Given the description of an element on the screen output the (x, y) to click on. 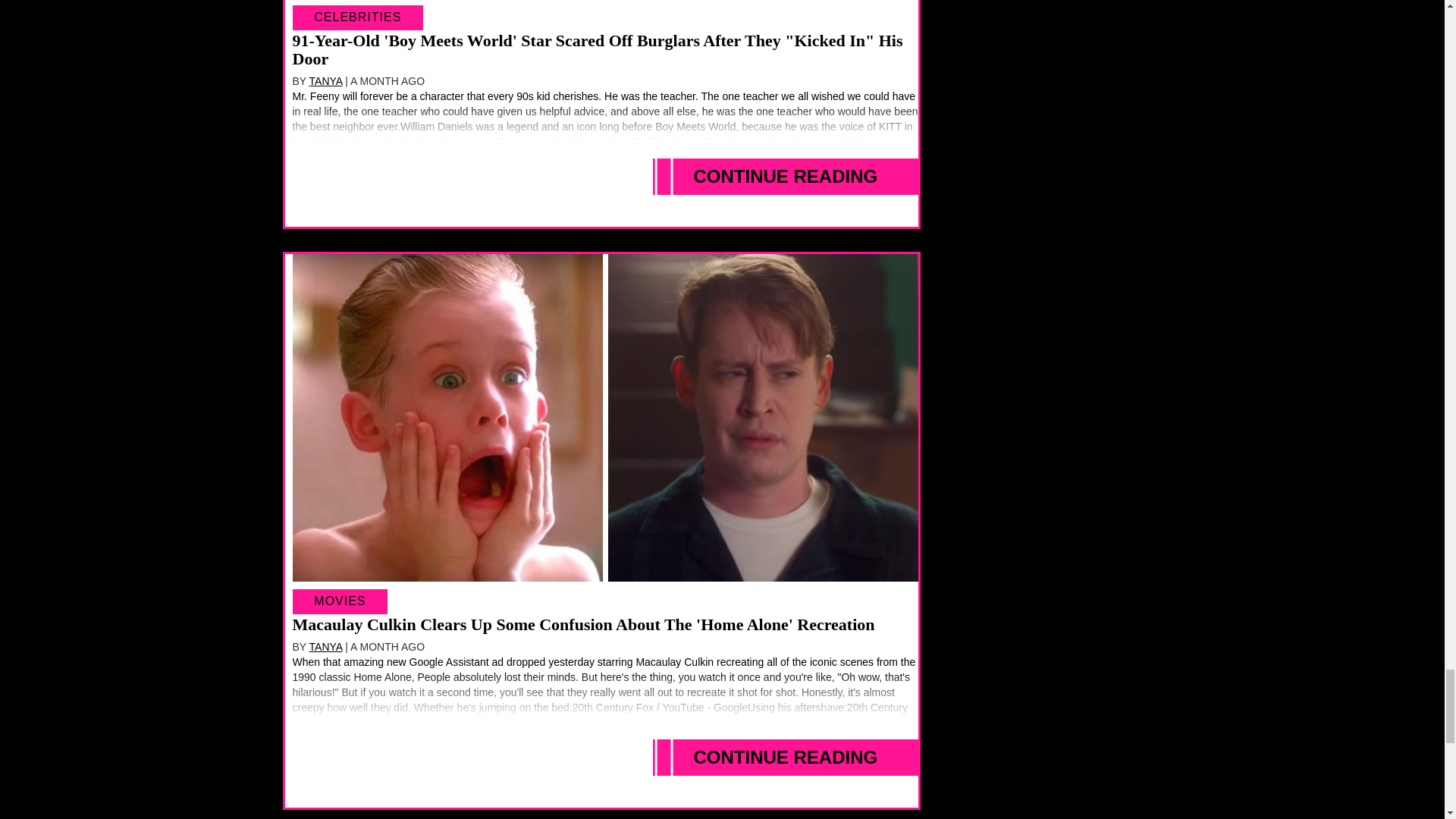
Tanya's Profile (325, 80)
CELEBRITIES (357, 16)
Tanya's Profile (325, 646)
MOVIES (340, 600)
CONTINUE READING (785, 176)
TANYA (325, 80)
